Given the description of an element on the screen output the (x, y) to click on. 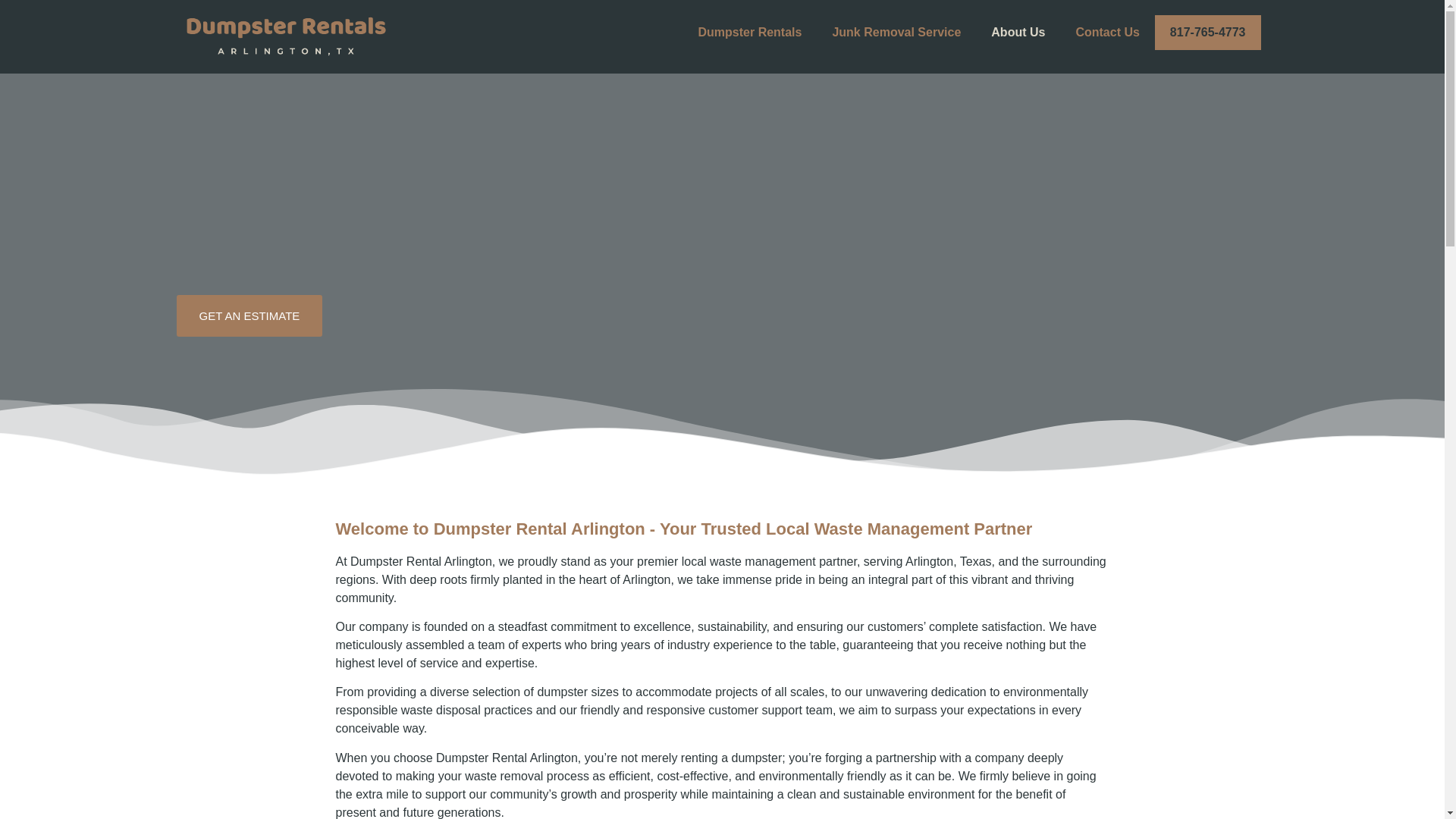
GET AN ESTIMATE (248, 315)
Contact Us (1106, 32)
Dumpster Rentals (749, 32)
817-765-4773 (1207, 32)
About Us (1017, 32)
Junk Removal Service (895, 32)
